Given the description of an element on the screen output the (x, y) to click on. 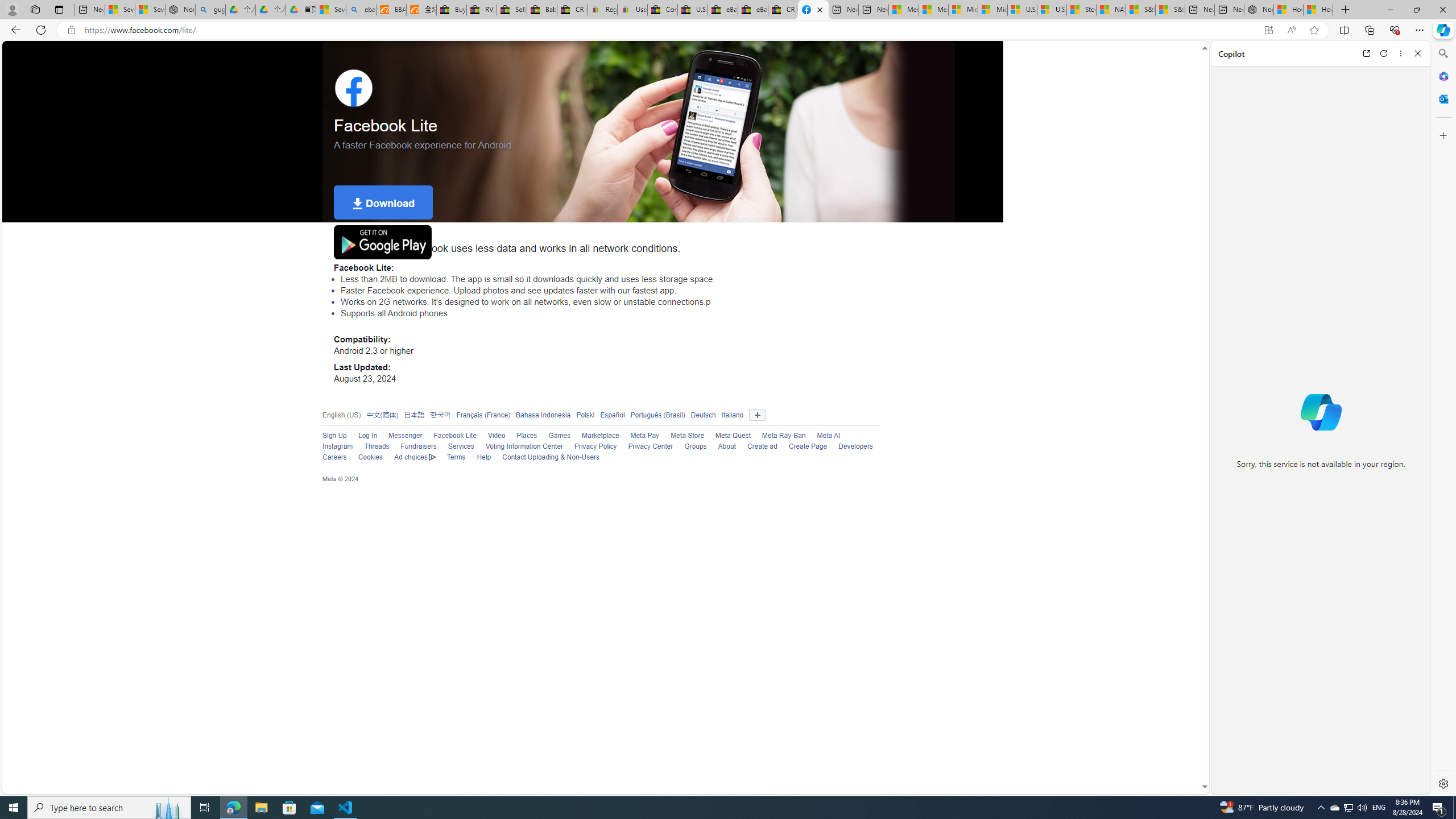
Groups (695, 446)
Privacy Policy (589, 446)
Restore (1416, 9)
Voting Information Center (523, 446)
Marketplace (600, 435)
User Privacy Notice | eBay (632, 9)
Log In (367, 435)
About (726, 446)
View site information (70, 29)
Facebook Lite APK for Android (812, 9)
Threads (371, 446)
